Given the description of an element on the screen output the (x, y) to click on. 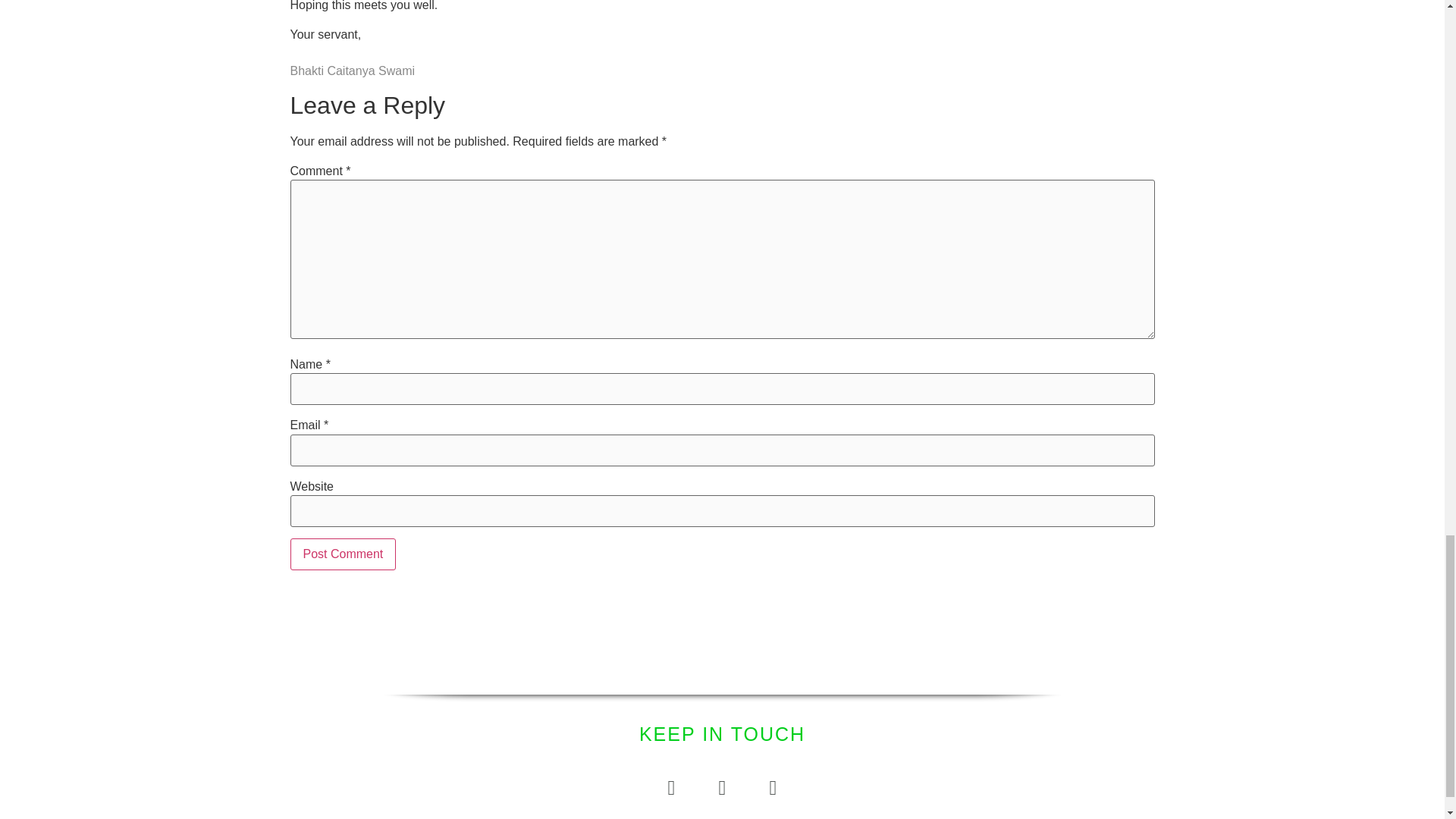
Post Comment (342, 554)
